Given the description of an element on the screen output the (x, y) to click on. 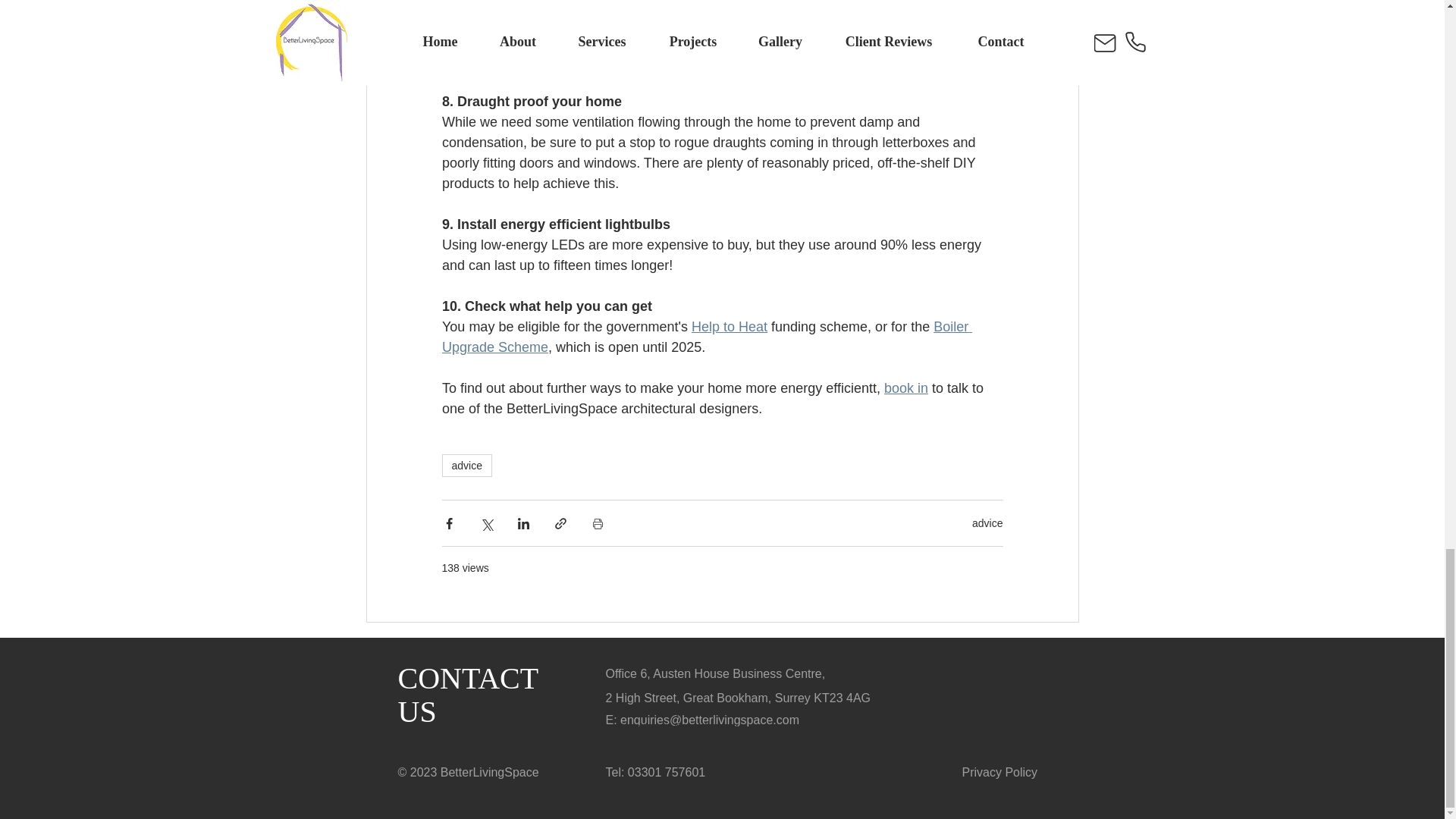
Boiler Upgrade Scheme (706, 336)
Help to Heat (728, 326)
